Given the description of an element on the screen output the (x, y) to click on. 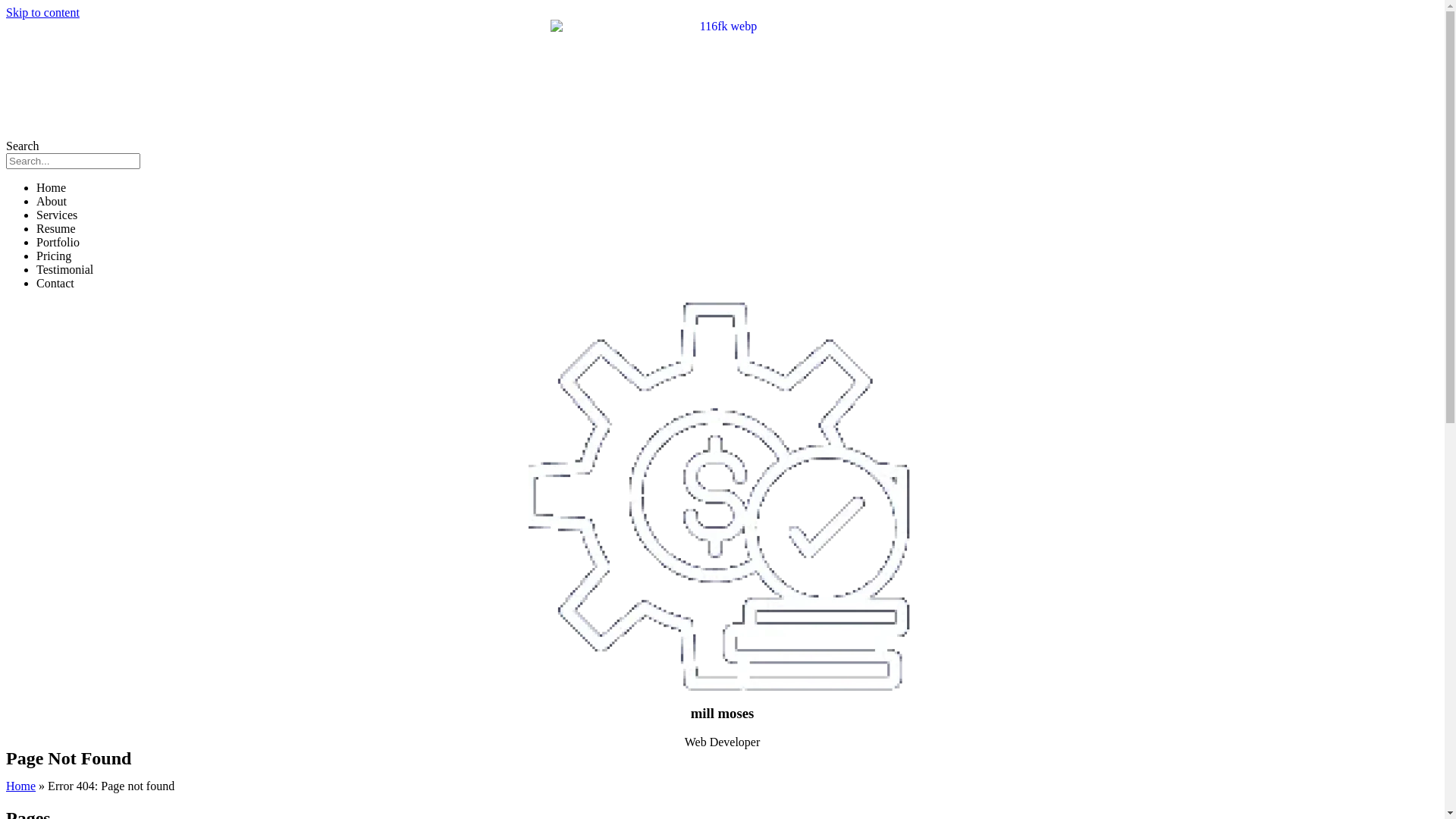
Skip to content Element type: text (42, 12)
Search Element type: hover (73, 161)
Home Element type: text (20, 785)
